Given the description of an element on the screen output the (x, y) to click on. 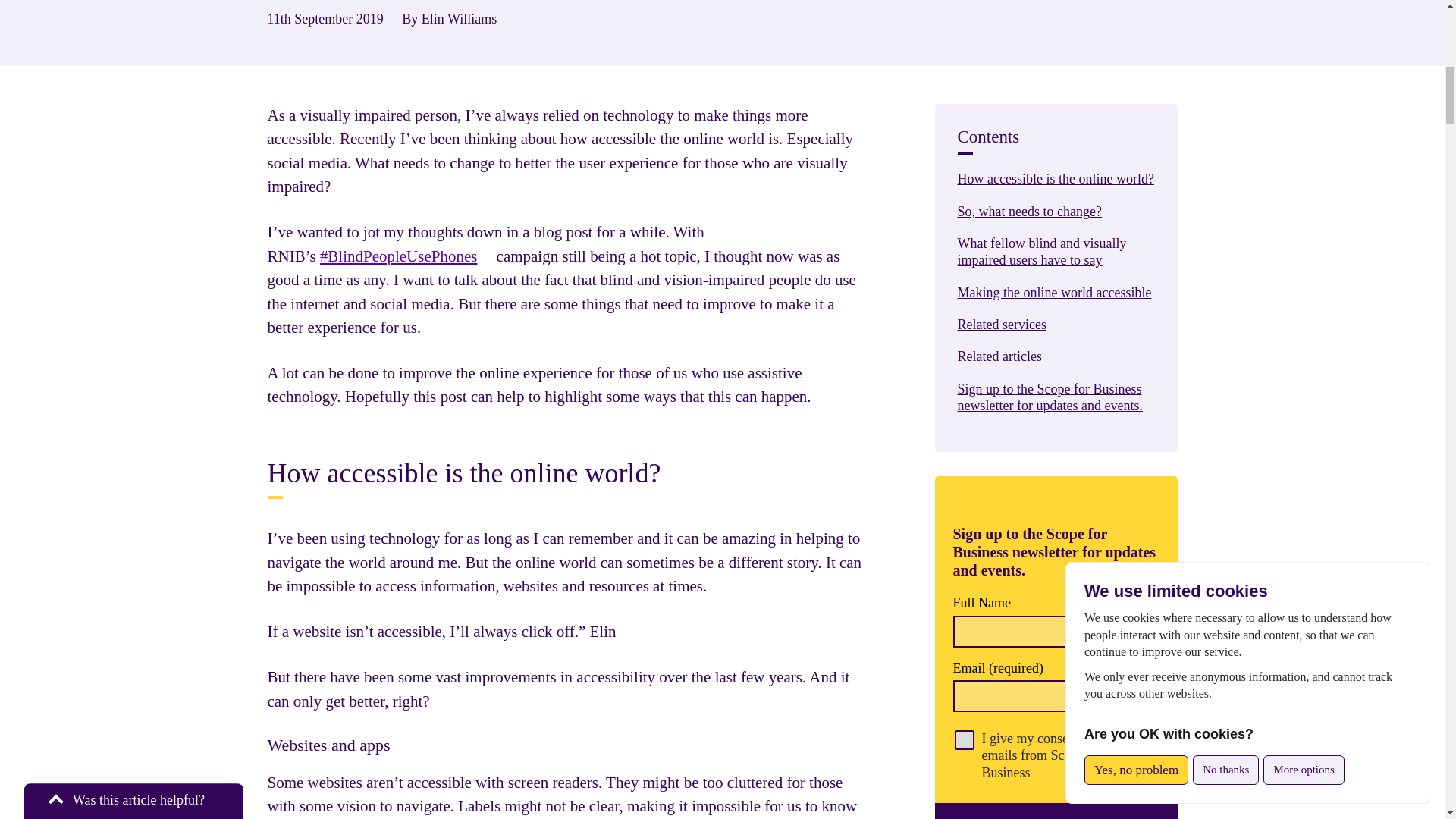
Send Feedback (133, 66)
Join the Scope for Business newsletter (1055, 811)
